Given the description of an element on the screen output the (x, y) to click on. 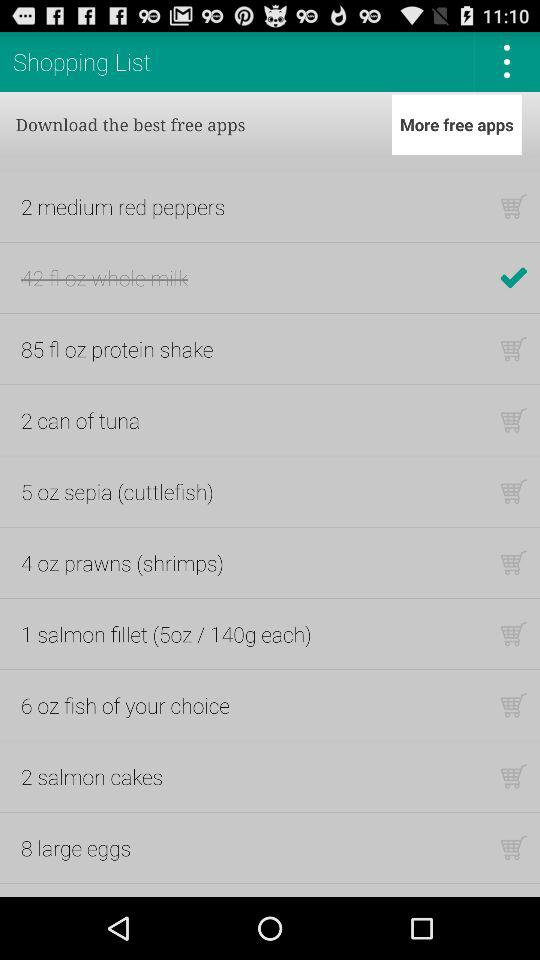
tap the icon below the 4 oz prawns icon (166, 633)
